Given the description of an element on the screen output the (x, y) to click on. 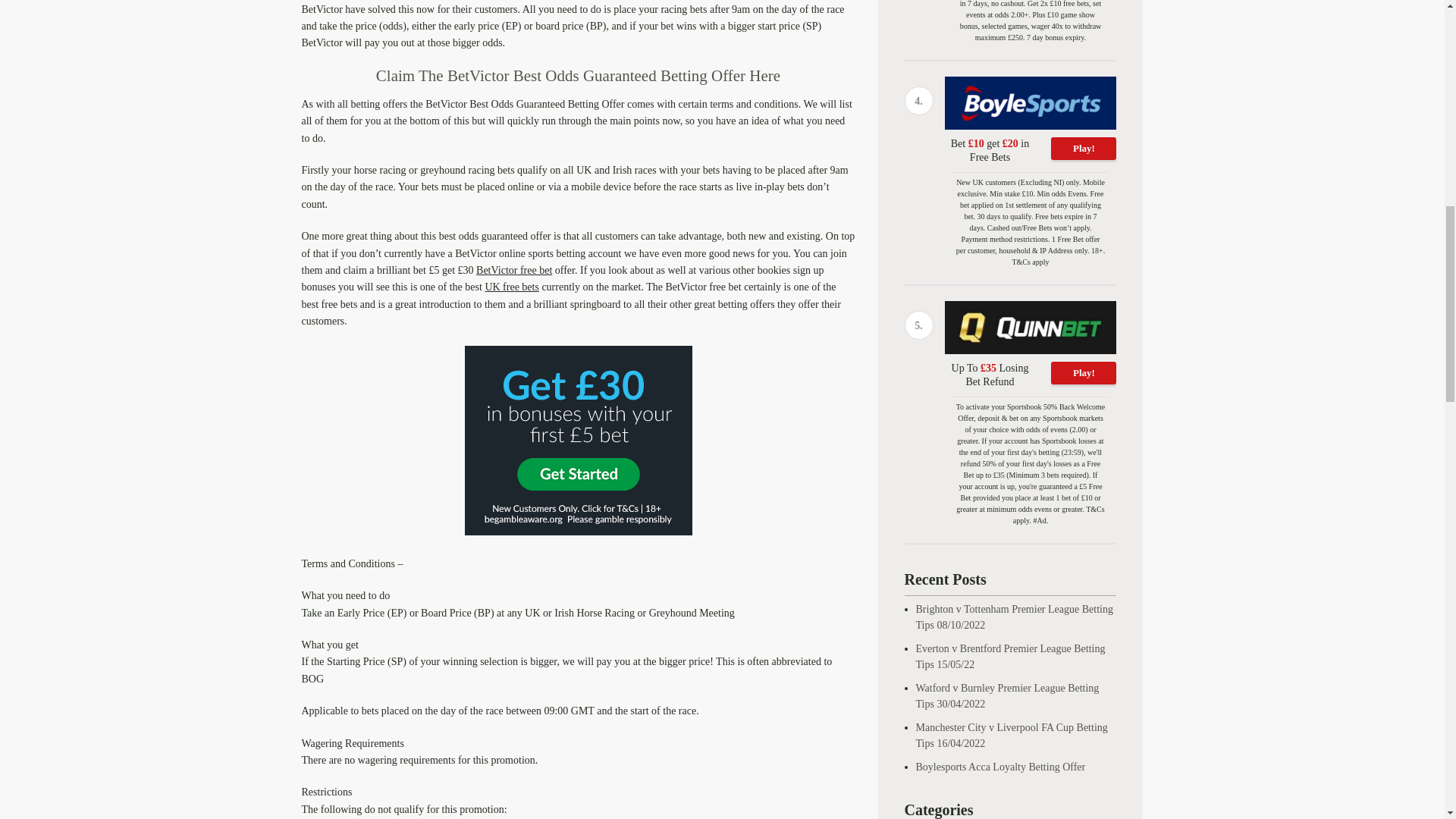
Play! (1083, 372)
BetVictor free bet (513, 270)
Claim The BetVictor Best Odds Guaranteed Betting Offer Here (577, 75)
UK free bets (511, 286)
Play! (1083, 148)
